Given the description of an element on the screen output the (x, y) to click on. 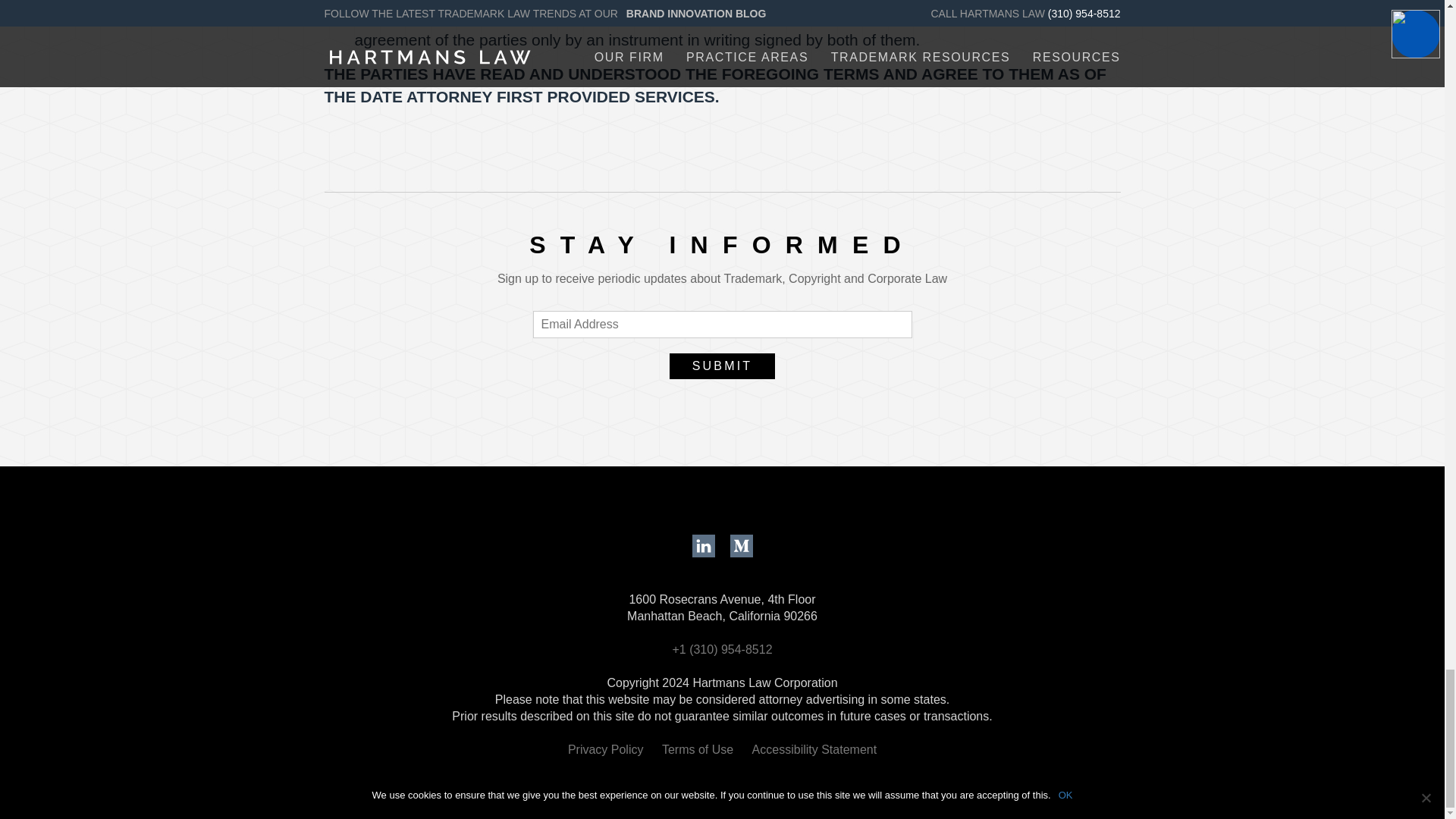
Submit (722, 365)
Submit (722, 365)
